Given the description of an element on the screen output the (x, y) to click on. 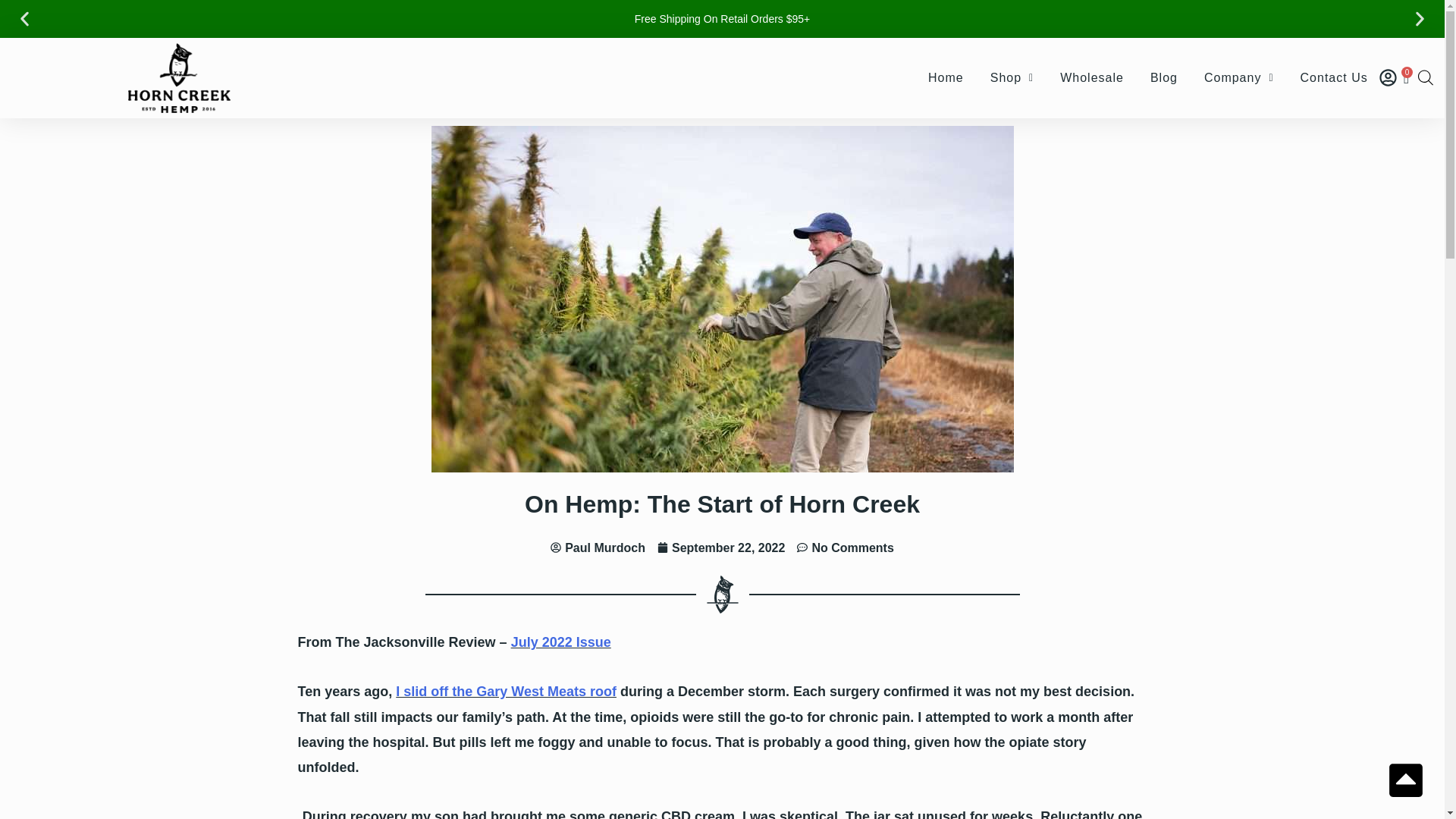
Home (946, 77)
Company (1238, 77)
Shop (1011, 77)
Contact Us (1333, 77)
Wholesale (1091, 77)
Blog (1163, 77)
